Given the description of an element on the screen output the (x, y) to click on. 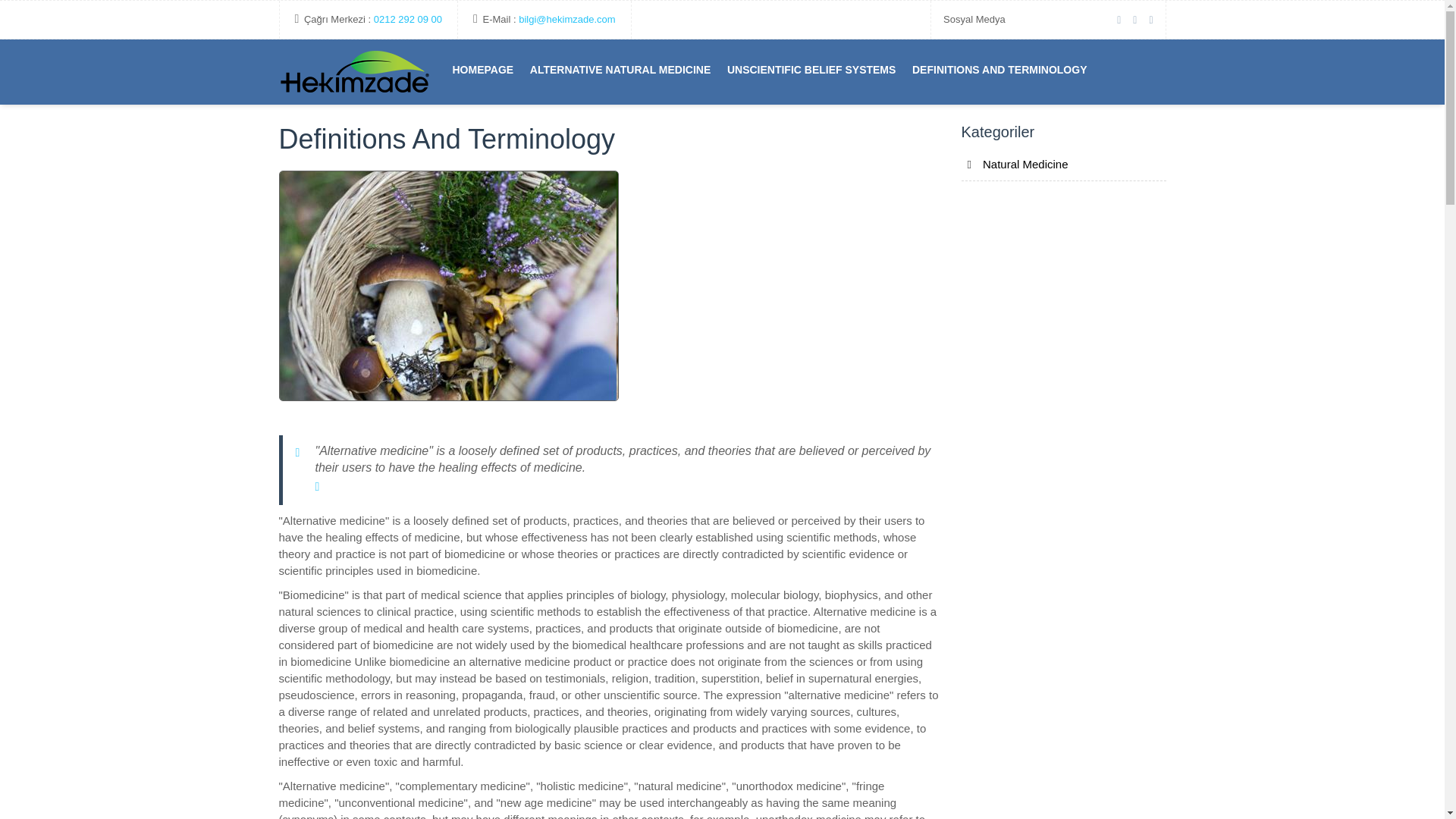
ALTERNATIVE NATURAL MEDICINE (619, 69)
HOMEPAGE (483, 69)
Kategoriler (997, 131)
Natural Medicine (566, 19)
DEFINITIONS AND TERMINOLOGY (999, 69)
Natural Medicine (1063, 168)
Natural Medicine (354, 73)
UNSCIENTIFIC BELIEF SYSTEMS (811, 69)
